Given the description of an element on the screen output the (x, y) to click on. 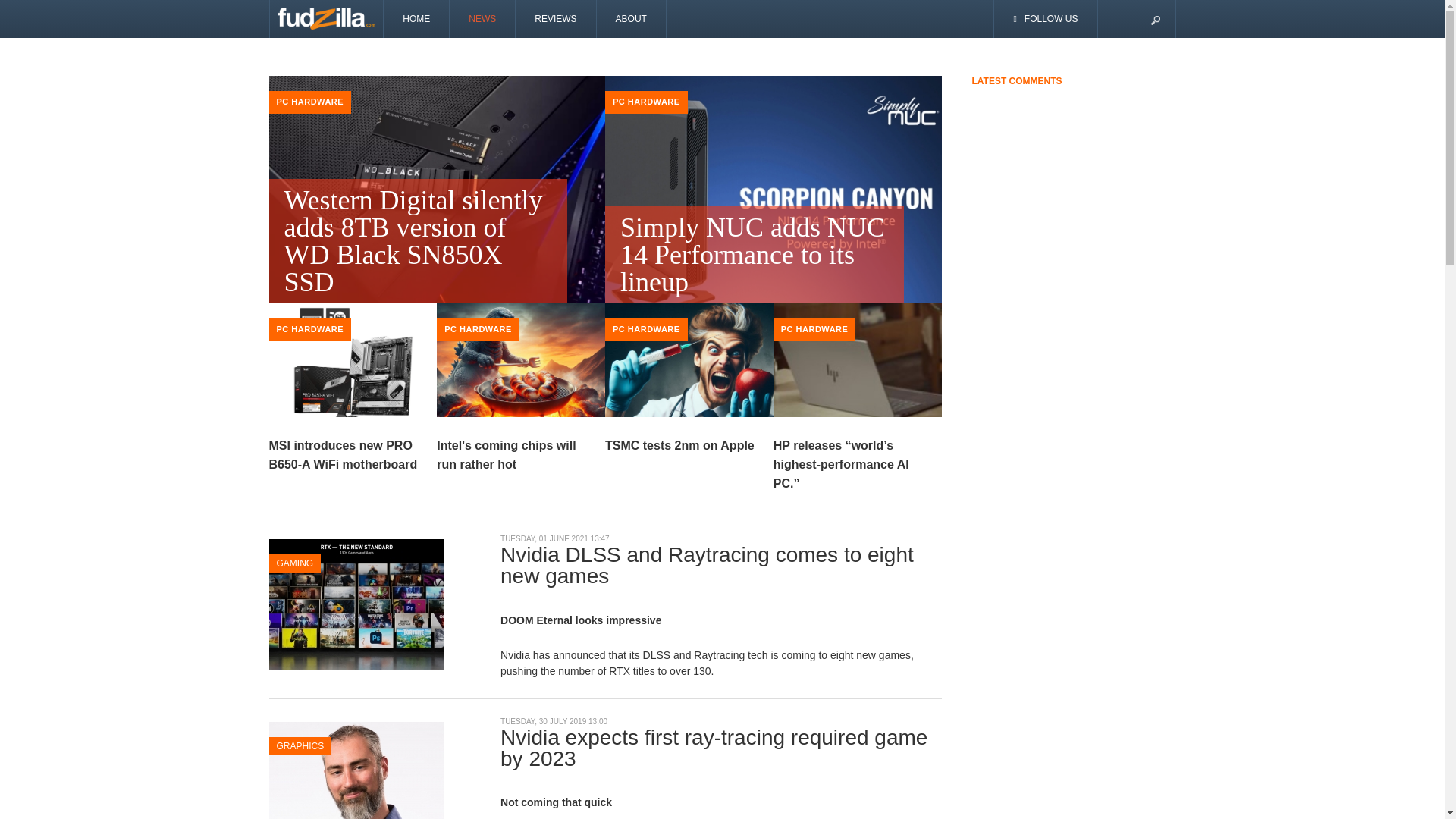
Continue reading "Intel's coming chips will run rather hot" (520, 365)
NEWS (482, 18)
PC HARDWARE (814, 328)
Fudzilla (326, 18)
ABOUT (631, 18)
PC HARDWARE (309, 101)
TSMC tests 2nm on Apple (679, 445)
HOME (416, 18)
FOLLOW US (1045, 18)
Simply NUC adds NUC 14 Performance to its lineup (754, 254)
Nvidia DLSS and Raytracing comes to eight new games (354, 603)
Nvidia expects first ray-tracing required game by 2023 (354, 785)
REVIEWS (555, 18)
